Given the description of an element on the screen output the (x, y) to click on. 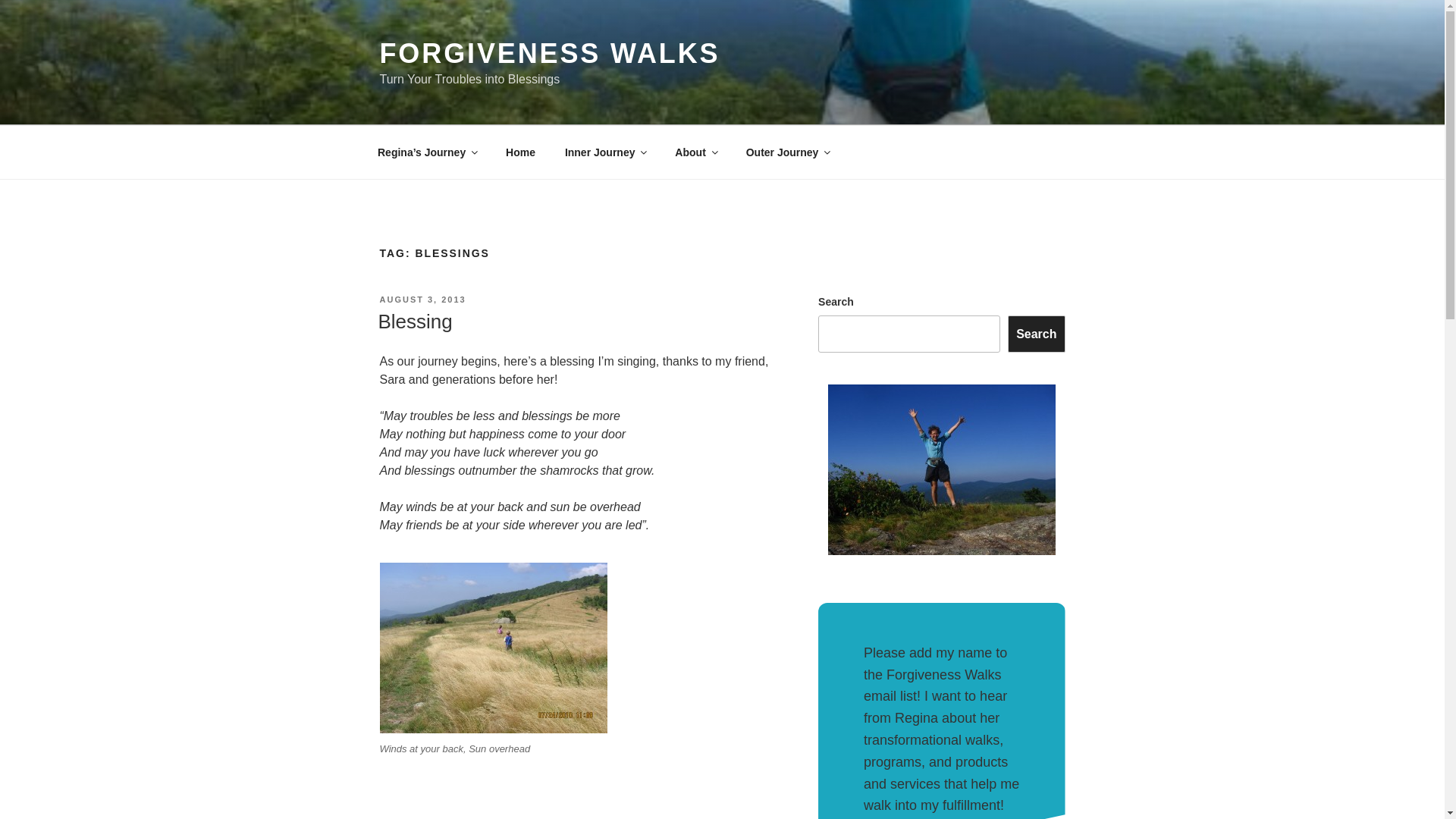
AUGUST 3, 2013 (421, 298)
FORGIVENESS WALKS (548, 52)
About (695, 151)
Home (520, 151)
Blessing (414, 321)
Outer Journey (787, 151)
Inner Journey (605, 151)
